Given the description of an element on the screen output the (x, y) to click on. 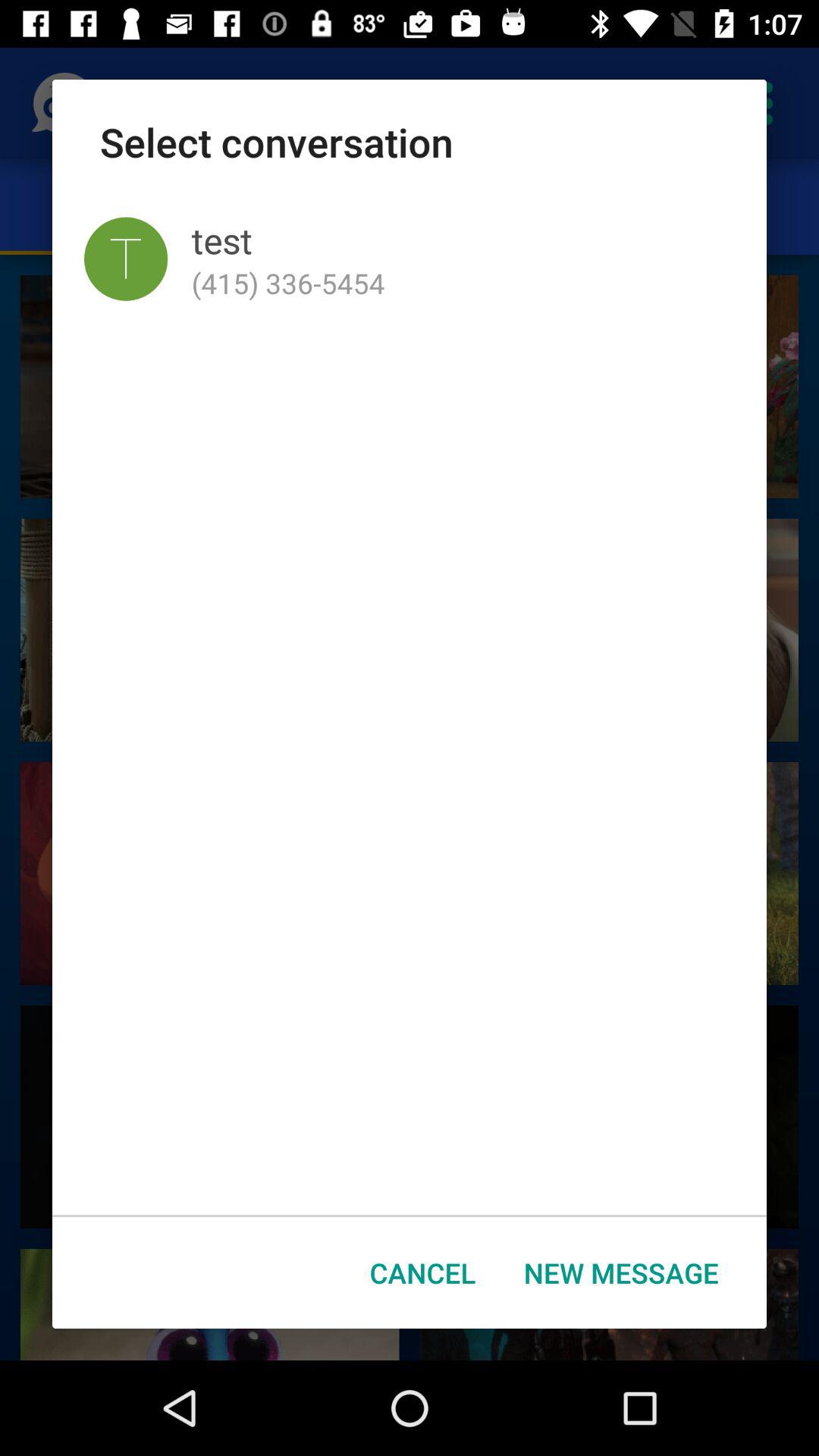
turn off icon to the left of new message icon (422, 1272)
